Given the description of an element on the screen output the (x, y) to click on. 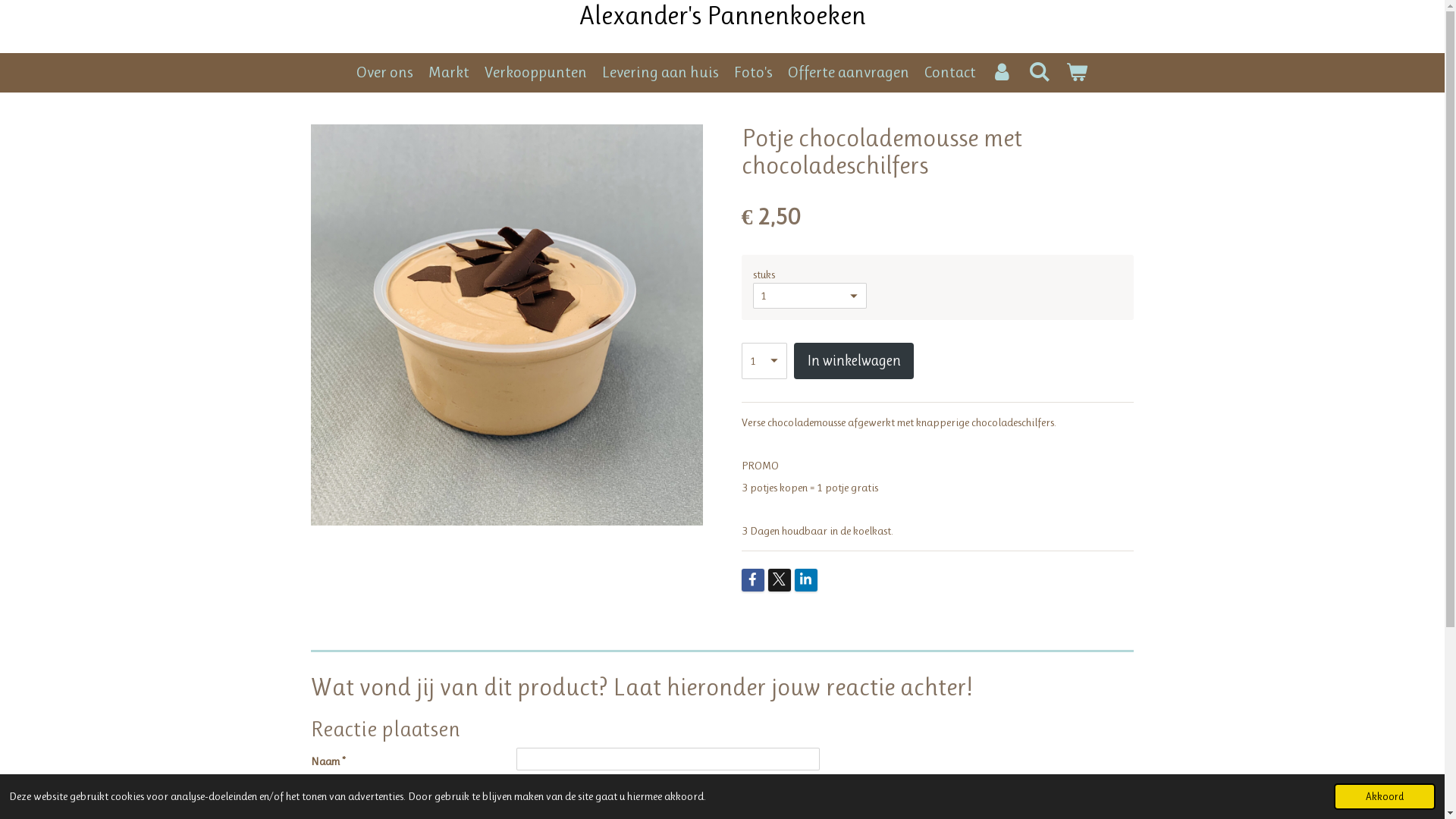
Levering aan huis Element type: text (660, 72)
Alexander's Pannenkoeken Element type: text (722, 15)
Contact Element type: text (949, 72)
Markt Element type: text (448, 72)
Bekijk winkelwagen Element type: hover (1076, 72)
Offerte aanvragen Element type: text (848, 72)
Foto's Element type: text (753, 72)
Over ons Element type: text (384, 72)
Verkooppunten Element type: text (535, 72)
In winkelwagen Element type: text (853, 360)
Account Element type: hover (1001, 72)
Akkoord Element type: text (1384, 796)
Zoeken Element type: hover (1038, 72)
